Given the description of an element on the screen output the (x, y) to click on. 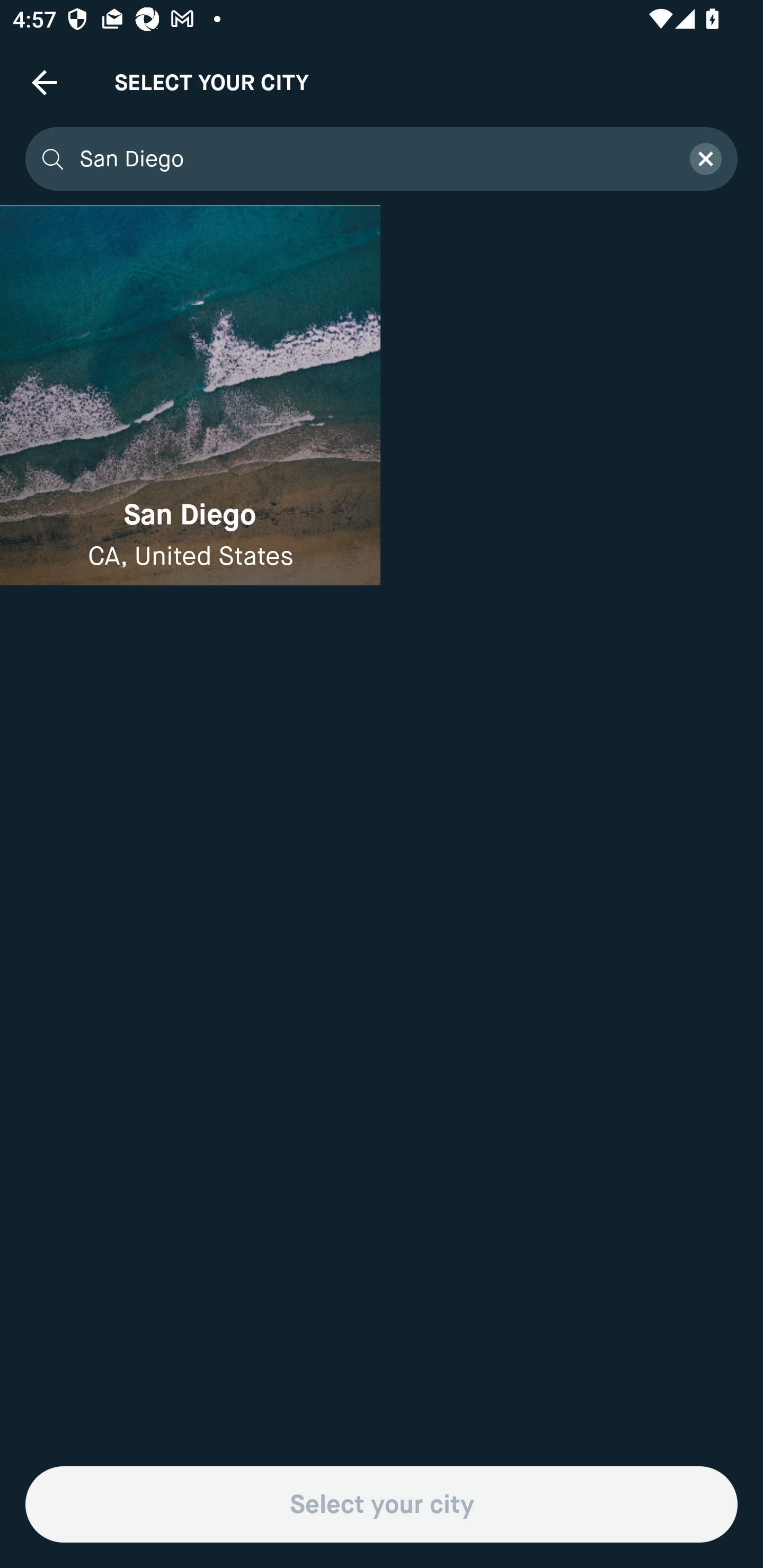
Navigate up (44, 82)
San Diego (373, 159)
San Diego CA, United States (190, 394)
Select your city (381, 1504)
